Given the description of an element on the screen output the (x, y) to click on. 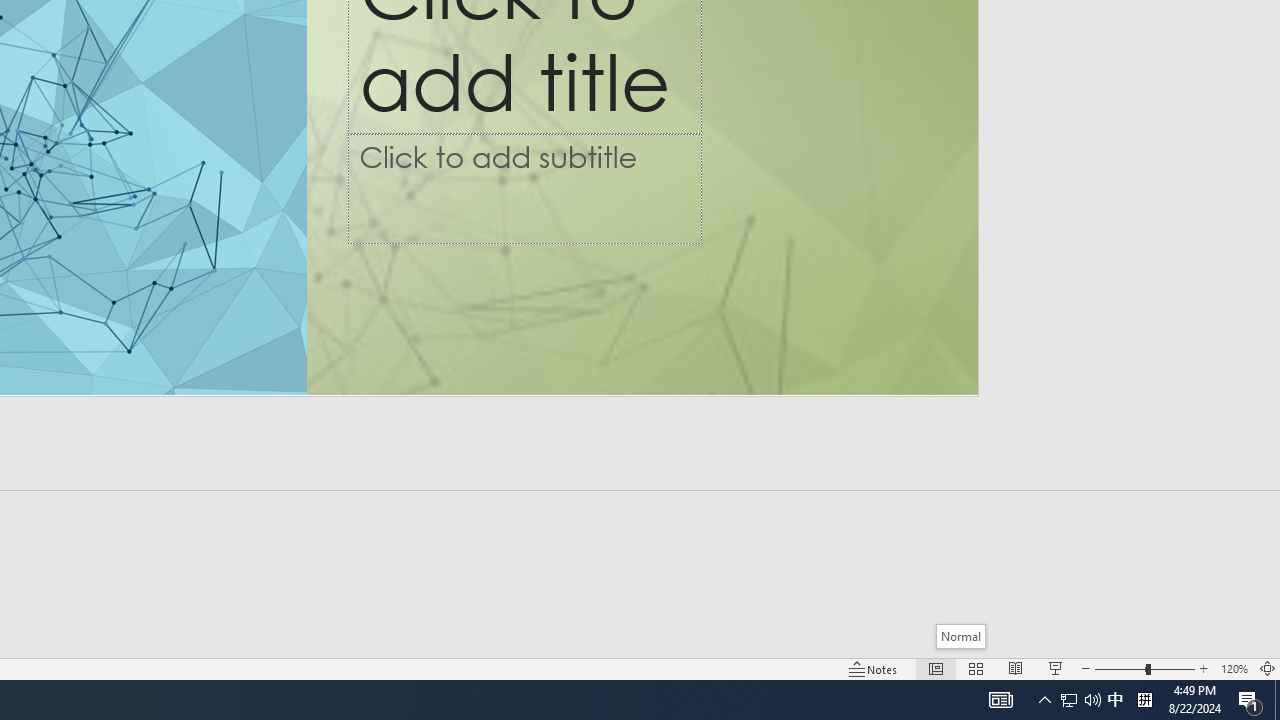
Zoom 120% (1234, 668)
